Given the description of an element on the screen output the (x, y) to click on. 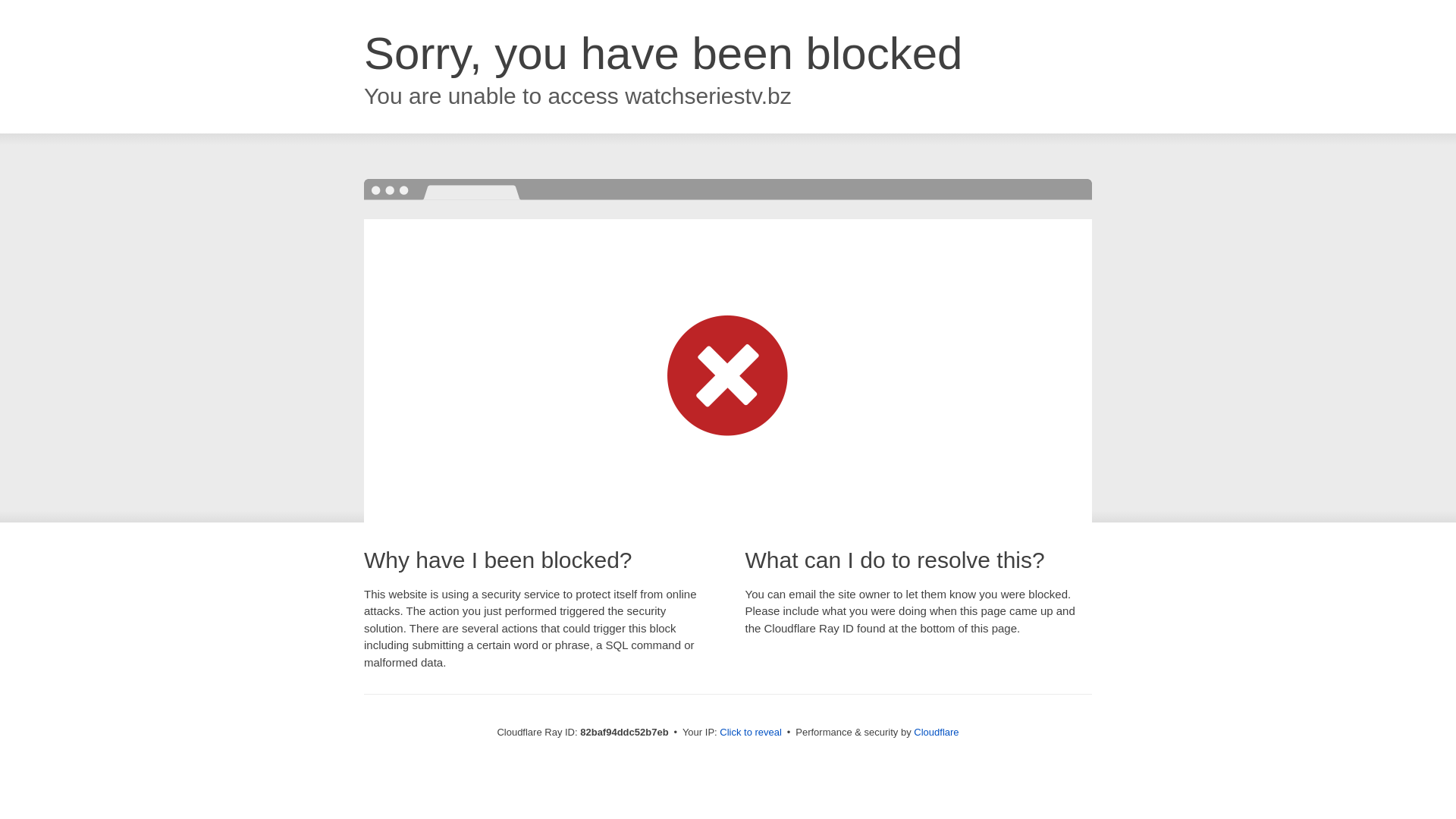
Click to reveal Element type: text (750, 732)
Cloudflare Element type: text (935, 731)
